Given the description of an element on the screen output the (x, y) to click on. 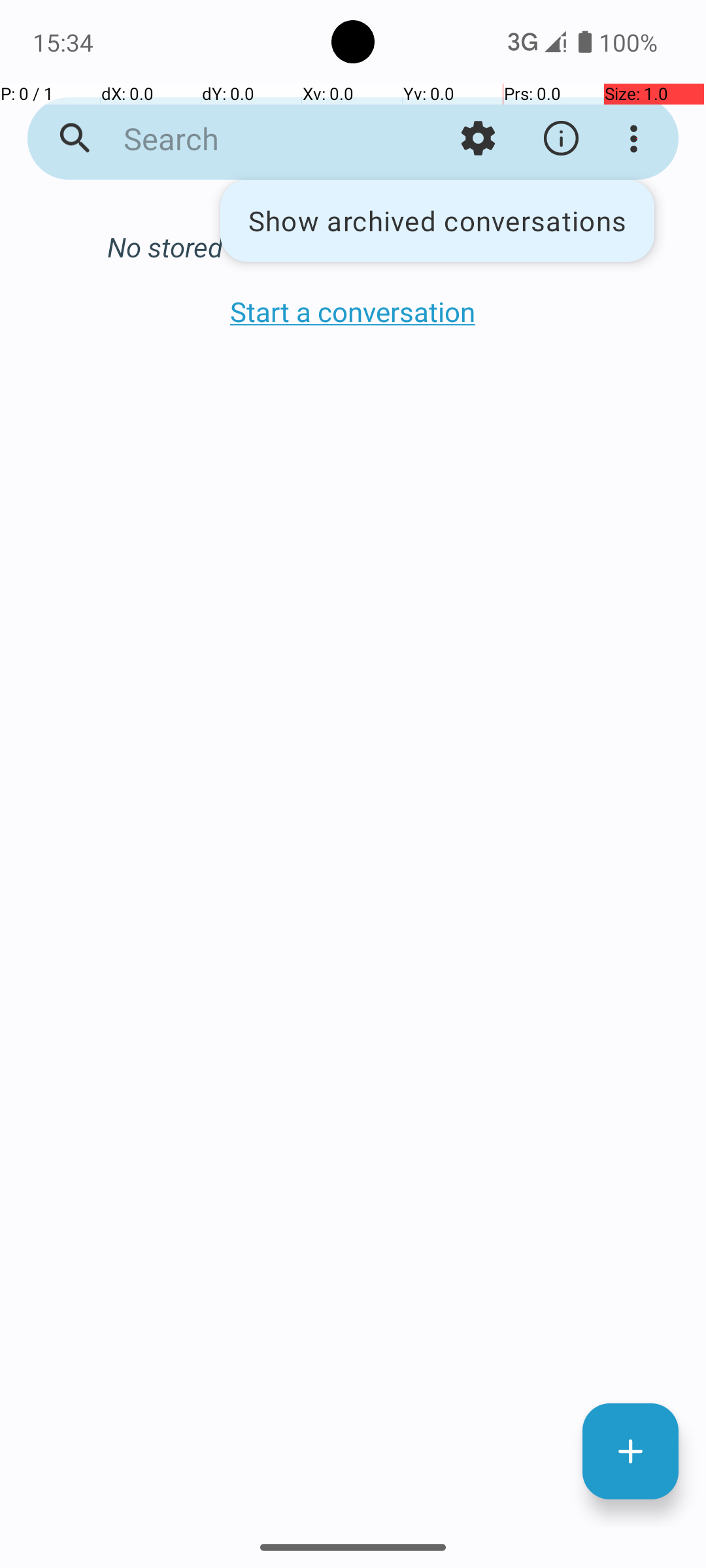
Show archived conversations Element type: android.widget.TextView (436, 220)
